Given the description of an element on the screen output the (x, y) to click on. 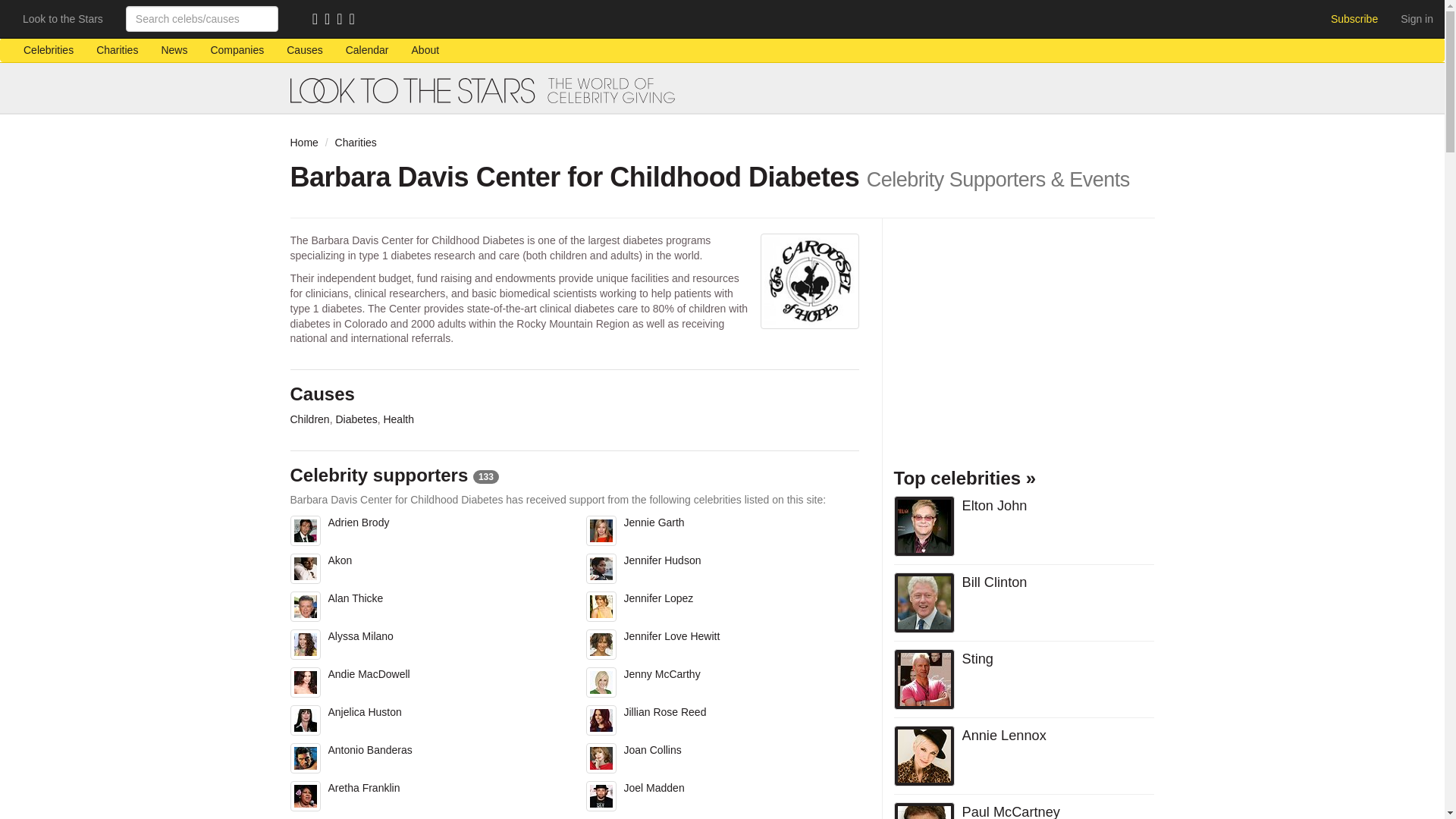
Twitter (342, 20)
Causes (304, 49)
Look to the Stars (63, 18)
Alyssa Milano (425, 648)
Find out about our subscriptions (1354, 18)
RSS feed (318, 20)
About (425, 49)
Diabetes (355, 419)
4645 celebrities supporting charities (47, 49)
Anjelica Huston (425, 723)
Adrien Brody (425, 534)
Calendar of celebrity charity events (367, 49)
Look to the Stars - the world of celebrity giving (721, 90)
News (173, 49)
2396 charities with celebrity supporters (116, 49)
